Given the description of an element on the screen output the (x, y) to click on. 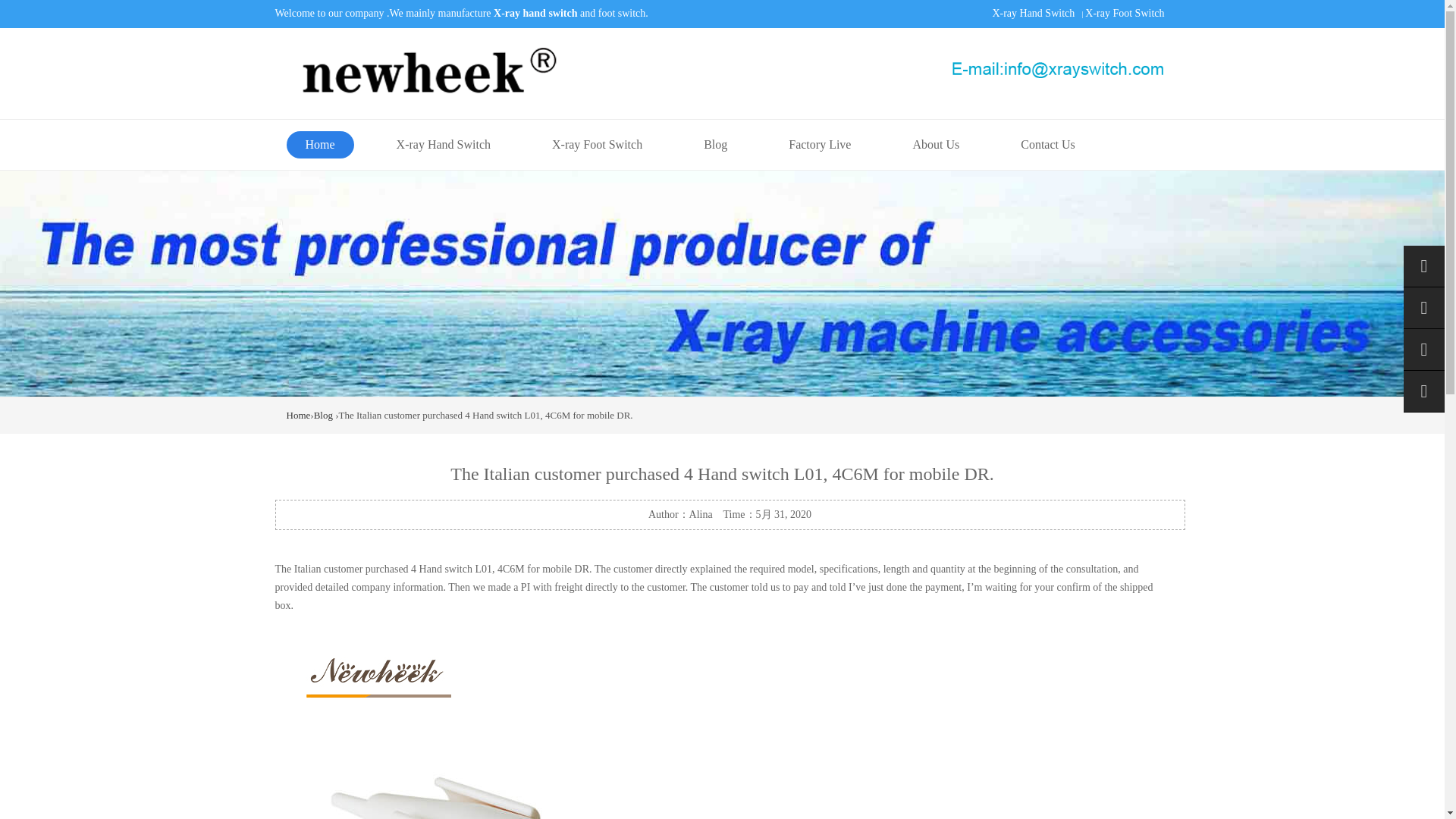
Blog (714, 144)
About Us (935, 144)
Home (298, 414)
Factory Live (819, 144)
Back to Home page (298, 414)
X-ray Foot Switch (596, 144)
Contact Us (1047, 144)
X-ray Foot Switch (1123, 12)
Home (319, 144)
X-ray Hand Switch (443, 144)
X-ray Hand Switch (1032, 12)
Blog (323, 414)
